Given the description of an element on the screen output the (x, y) to click on. 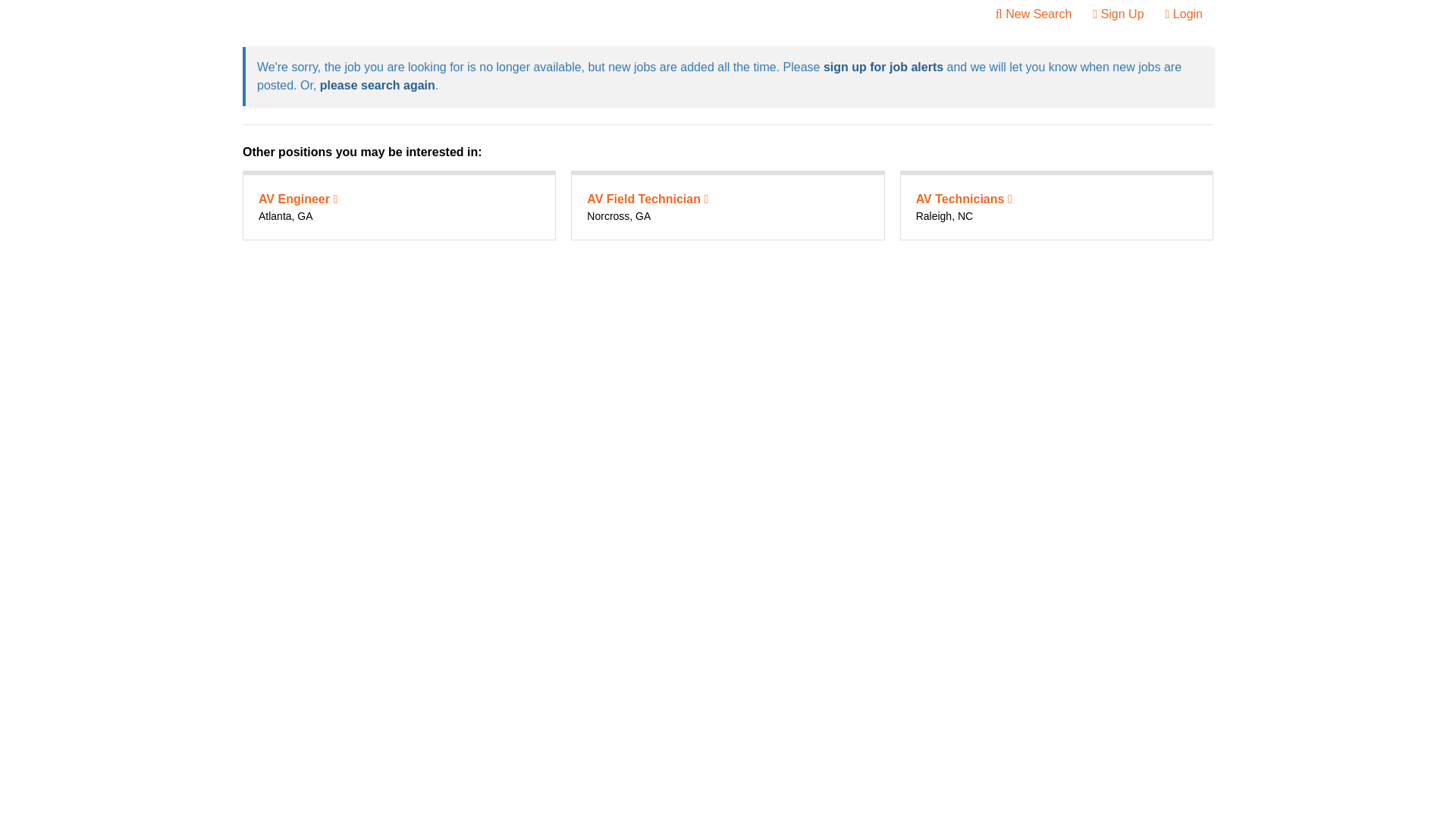
please search again (377, 84)
New Search (1034, 14)
AV Engineer (298, 198)
sign up for job alerts (883, 66)
AV Technicians (963, 198)
Sign Up (1118, 14)
AV Field Technician (646, 198)
Login (1183, 14)
